Given the description of an element on the screen output the (x, y) to click on. 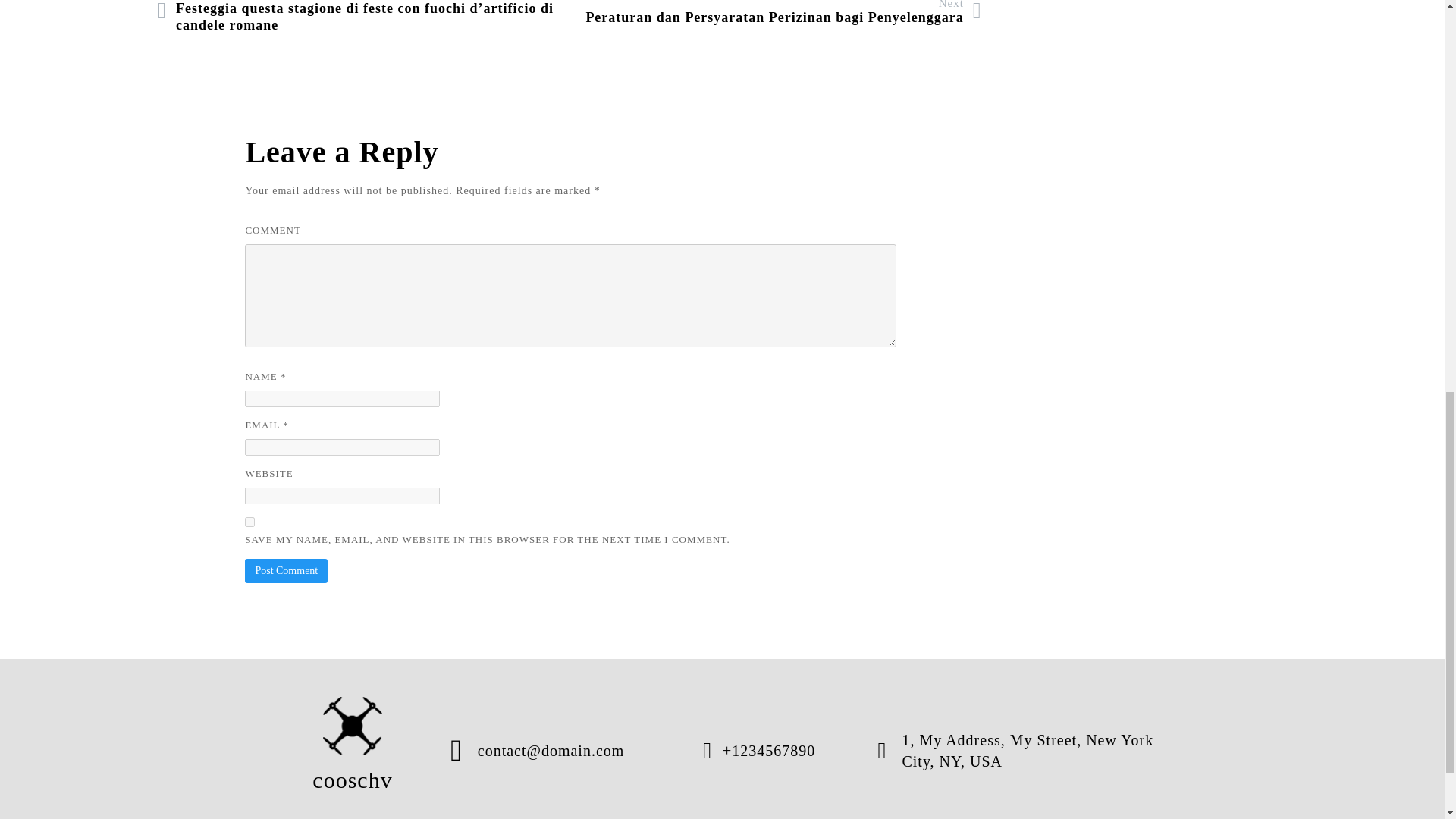
Post Comment (285, 570)
cooschv (352, 750)
Post Comment (285, 570)
logo (352, 725)
yes (249, 521)
